Given the description of an element on the screen output the (x, y) to click on. 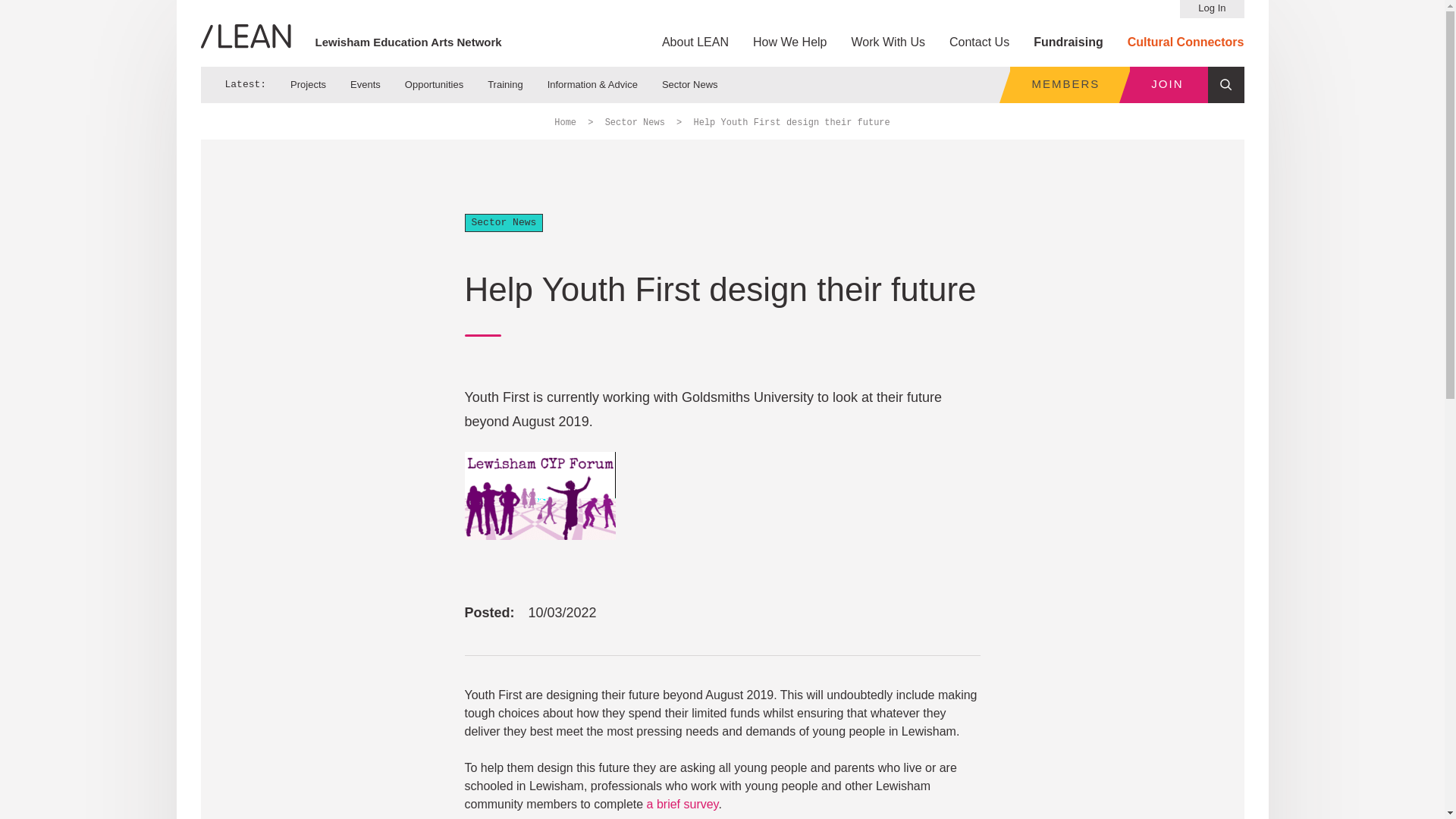
Work With Us (887, 42)
Home (565, 122)
Sector News (689, 84)
About LEAN (695, 42)
Cultural Connectors (1185, 42)
JOIN (1168, 84)
a brief survey (682, 803)
How We Help (789, 42)
Go to LEAN. (565, 122)
Events (365, 84)
